Given the description of an element on the screen output the (x, y) to click on. 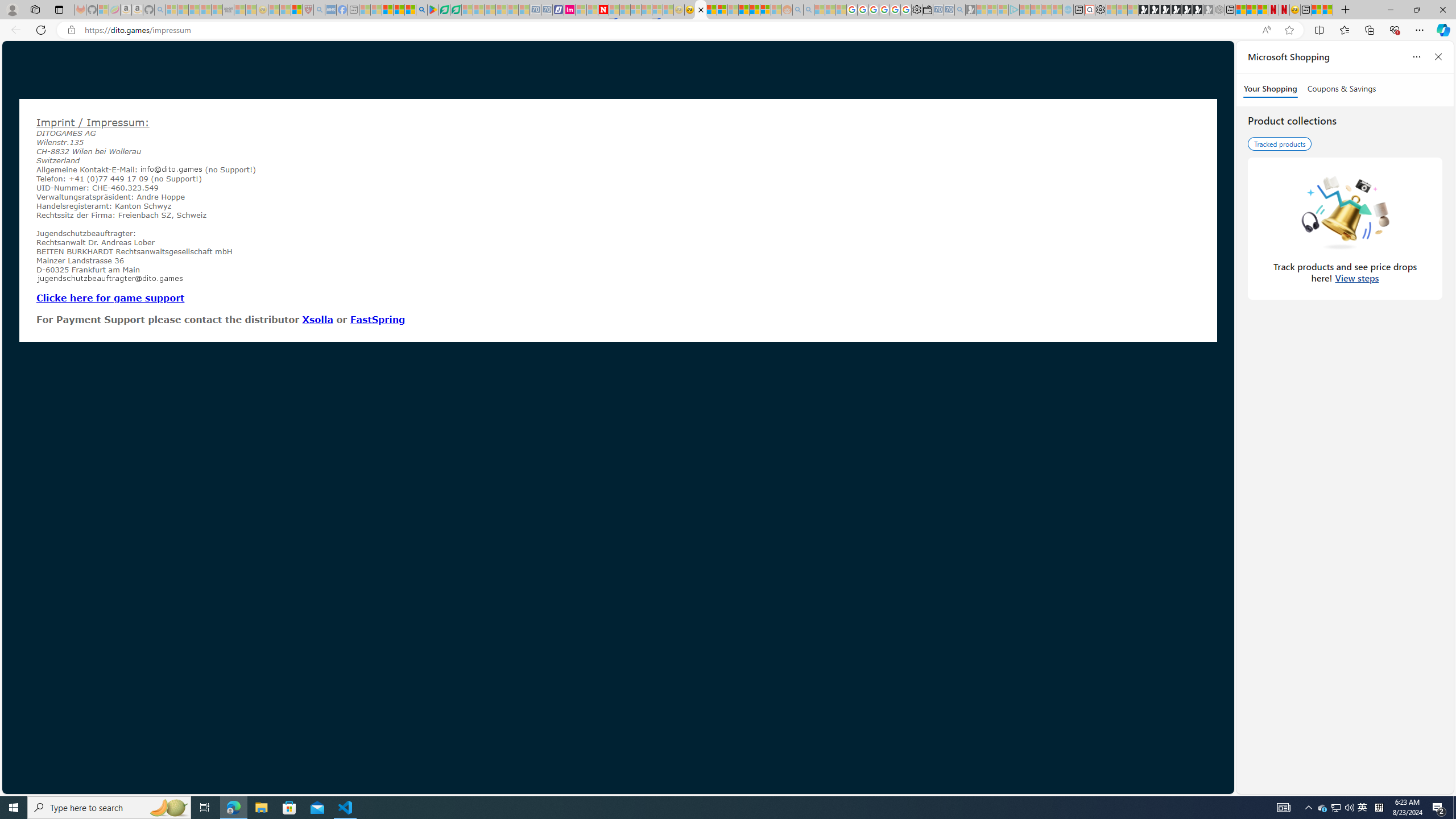
Kinda Frugal - MSN (754, 9)
google - Search (421, 9)
Microsoft Start - Sleeping (1046, 9)
Local - MSN (296, 9)
Pets - MSN (398, 9)
